Given the description of an element on the screen output the (x, y) to click on. 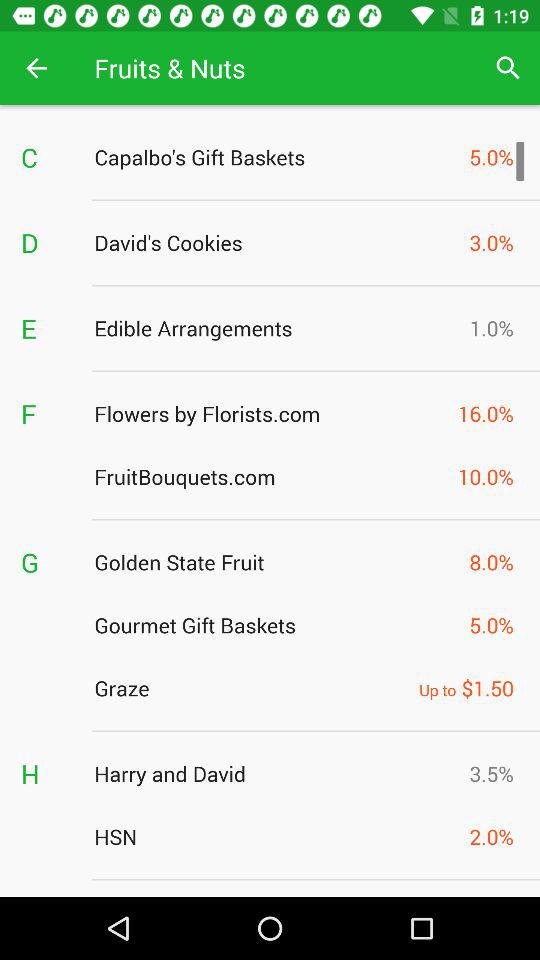
swipe to the flowers by florists (270, 413)
